Given the description of an element on the screen output the (x, y) to click on. 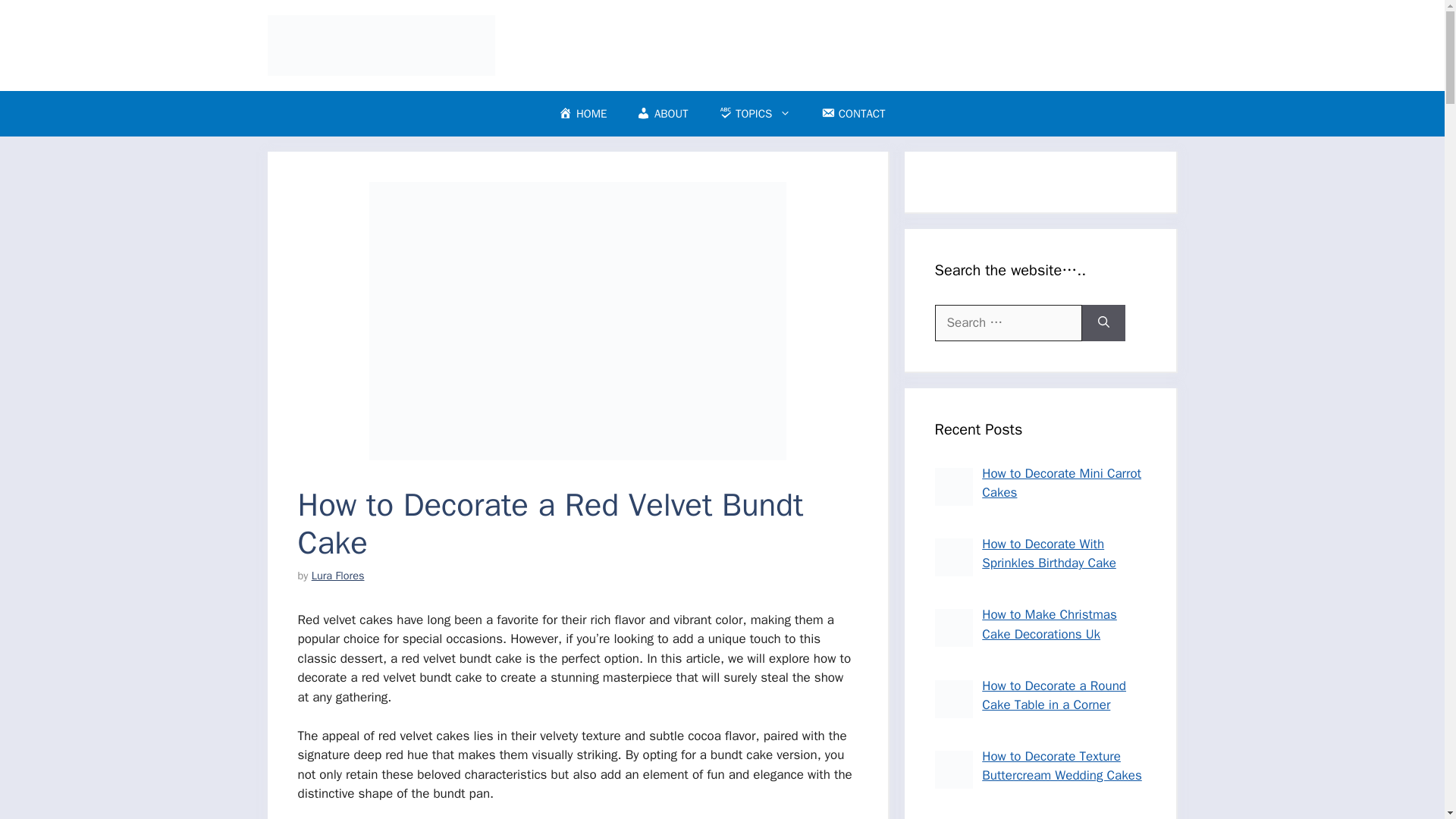
ABOUT (662, 113)
View all posts by Lura Flores (338, 575)
TOPICS (754, 113)
HOME (582, 113)
How to Decorate a Red Velvet Bundt Cake 1 (577, 320)
